Given the description of an element on the screen output the (x, y) to click on. 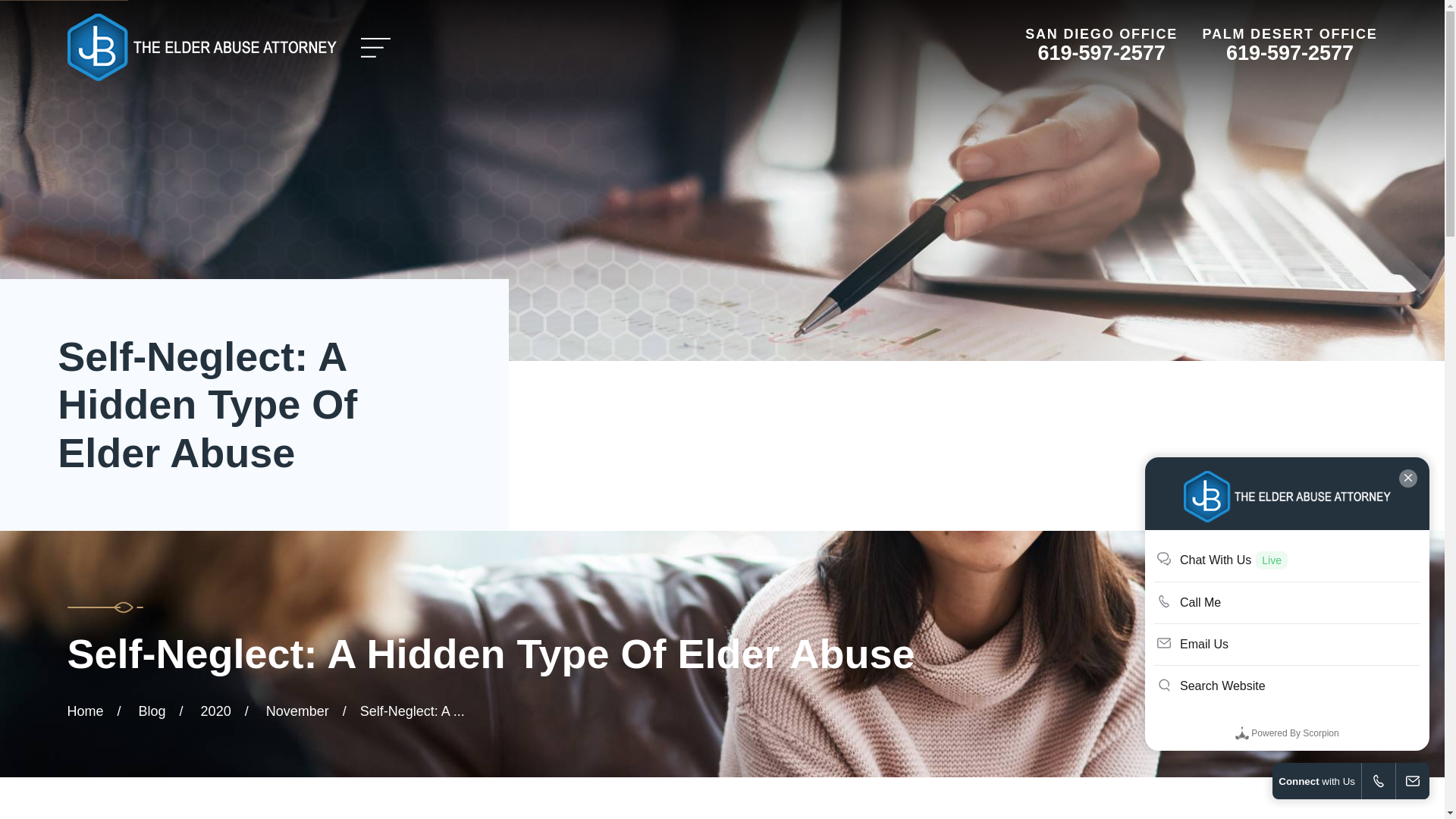
Joel R. Bryant (201, 47)
619-597-2577 (1102, 52)
Go Home (84, 711)
Home (201, 47)
619-597-2577 (1289, 52)
Main Menu (376, 47)
